Given the description of an element on the screen output the (x, y) to click on. 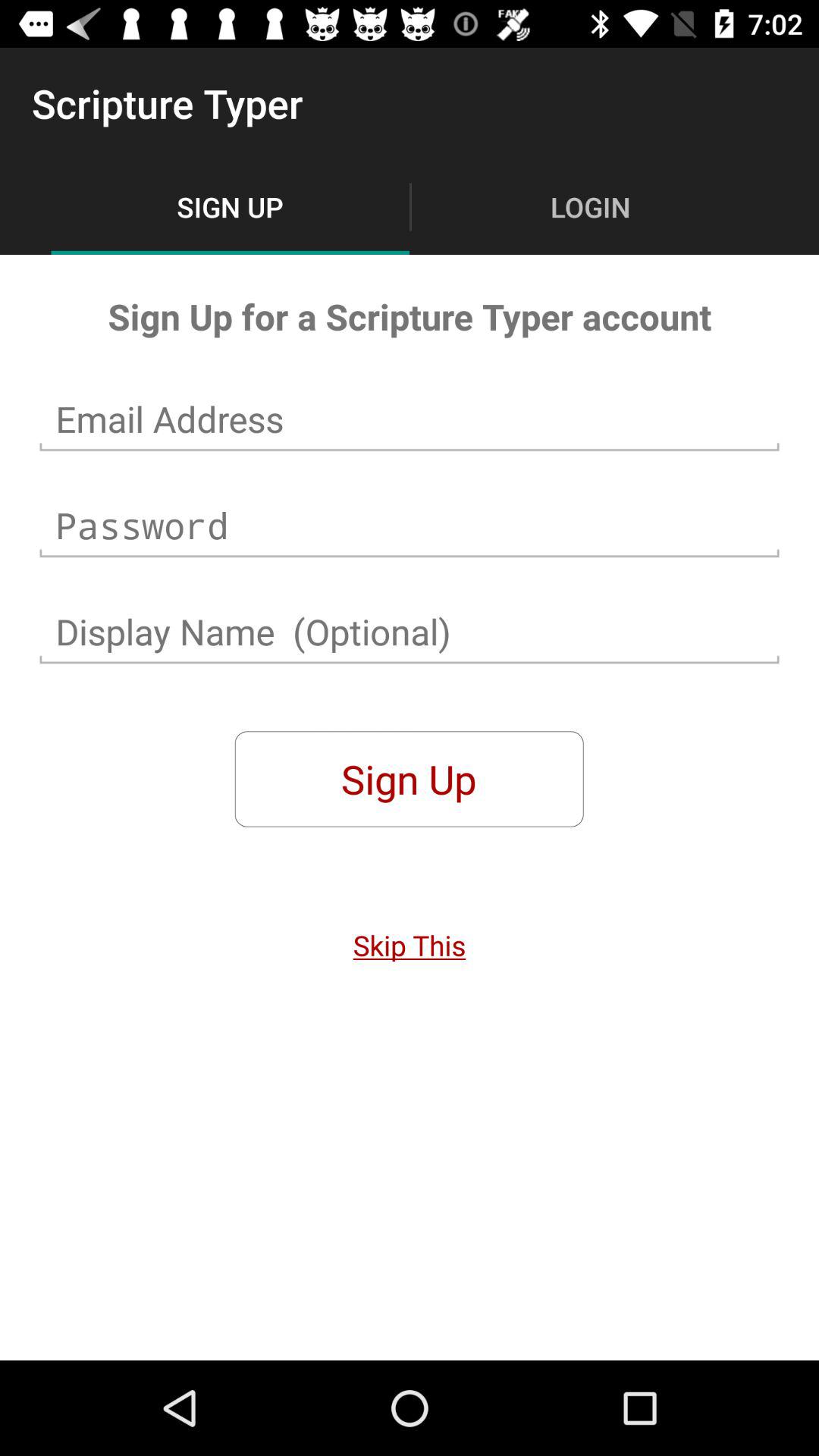
jump until the skip this icon (409, 945)
